Given the description of an element on the screen output the (x, y) to click on. 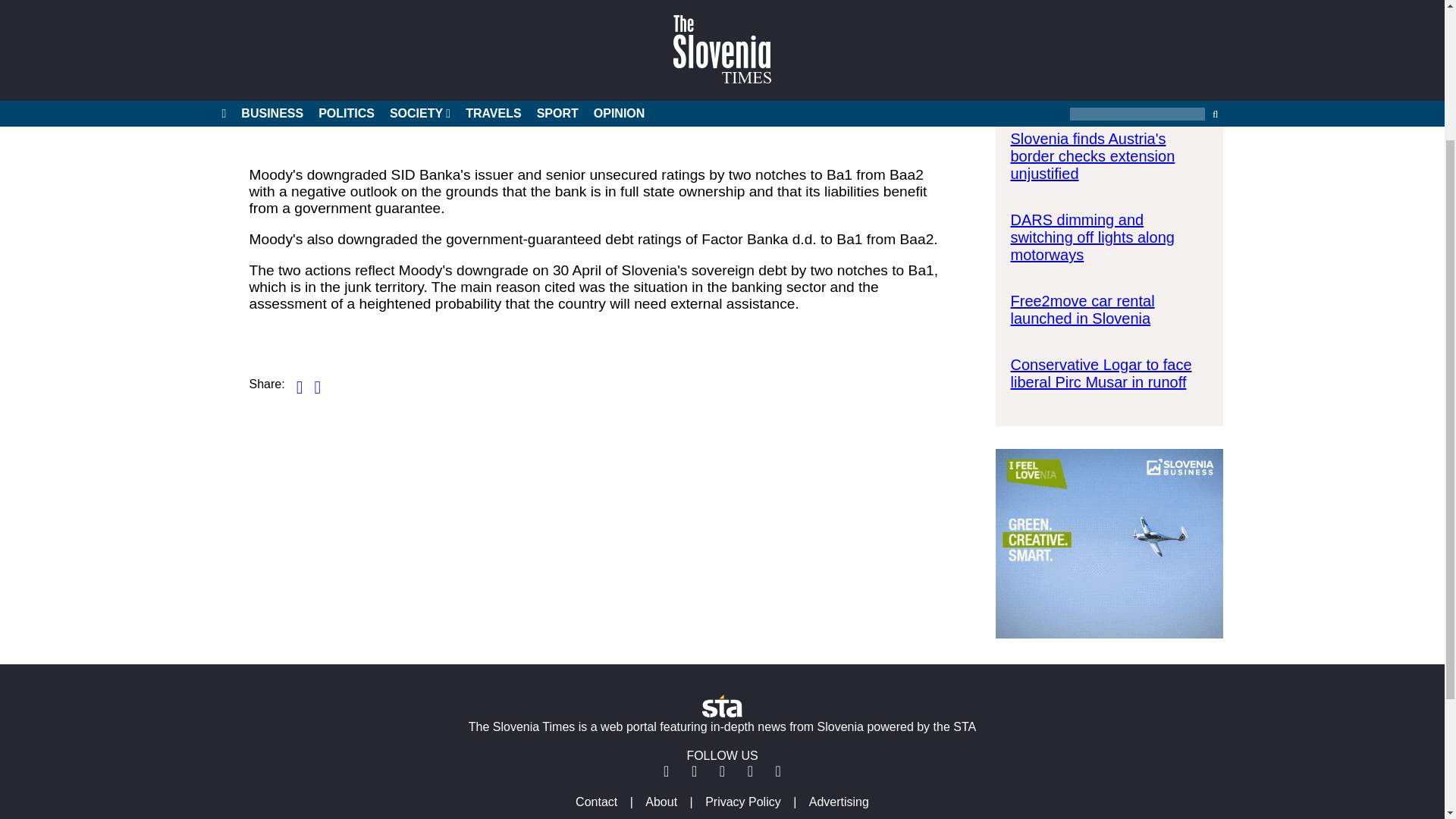
DARS dimming and switching off lights along motorways (1091, 236)
Privacy Policy (742, 801)
The Slovenia Times under new ownership (1098, 83)
Slovenia finds Austria's border checks extension unjustified (1092, 155)
Contact (596, 801)
About (660, 801)
Conservative Logar to face liberal Pirc Musar in runoff (1100, 373)
Advertising (838, 801)
Free2move car rental launched in Slovenia (1082, 309)
